Given the description of an element on the screen output the (x, y) to click on. 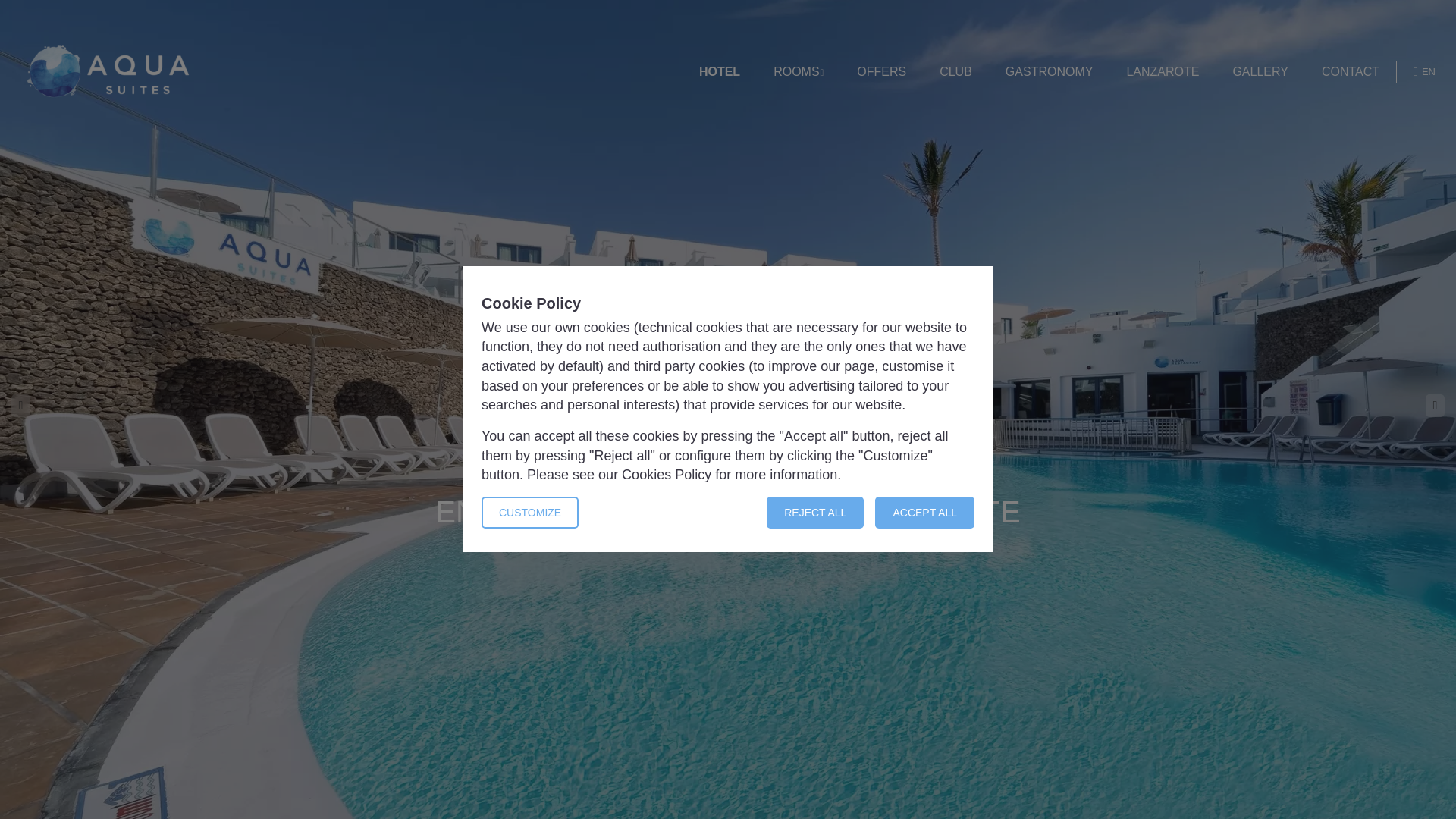
CLUB (956, 72)
OFFERS (881, 72)
EN (1424, 71)
LANZAROTE (1162, 72)
HOTEL (719, 72)
GALLERY (1260, 72)
CONTACT (1350, 72)
GASTRONOMY (1049, 72)
Aqua Suites Lanzarote (108, 71)
ROOMS (797, 72)
